Given the description of an element on the screen output the (x, y) to click on. 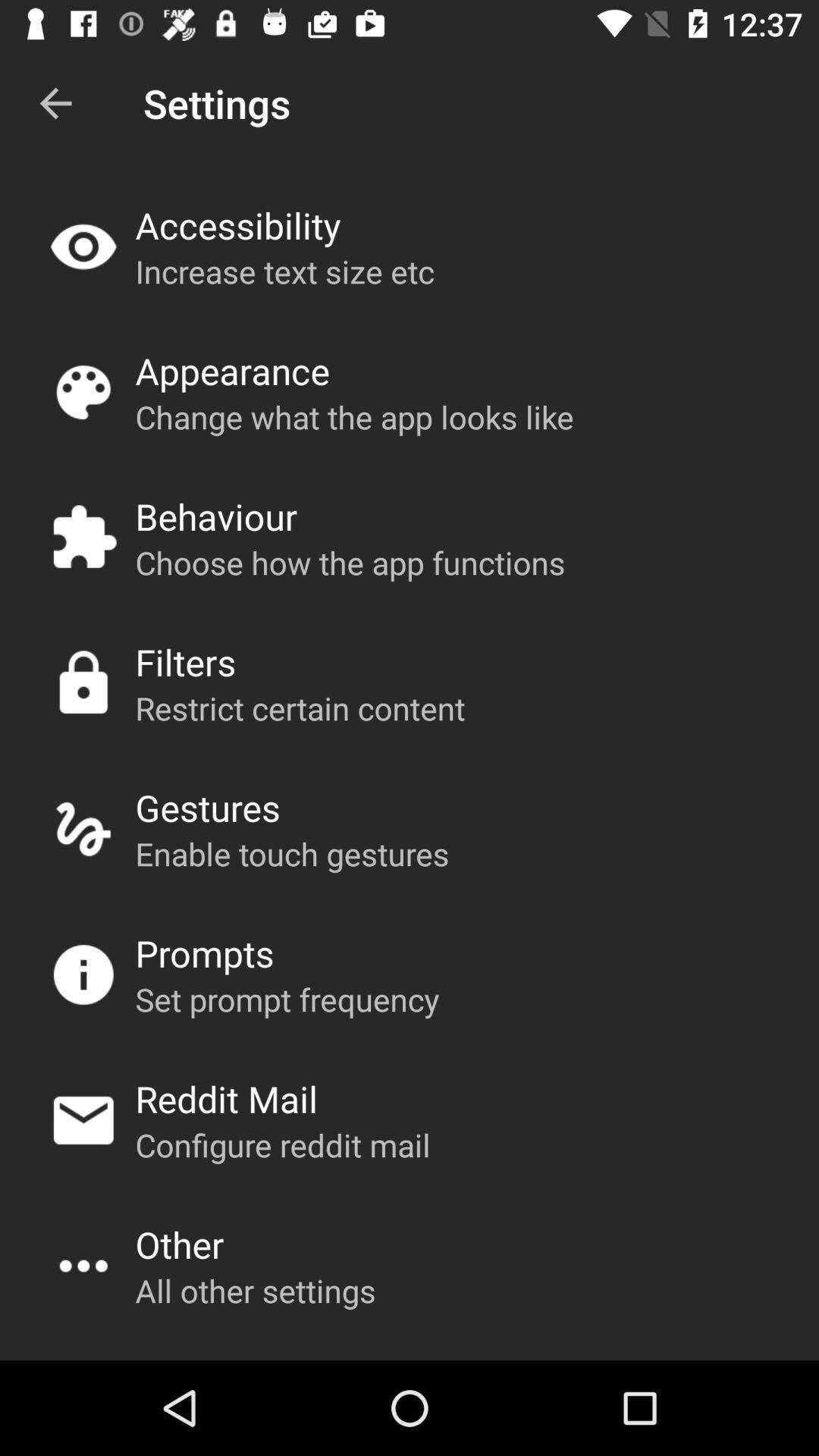
scroll to the appearance app (232, 370)
